Given the description of an element on the screen output the (x, y) to click on. 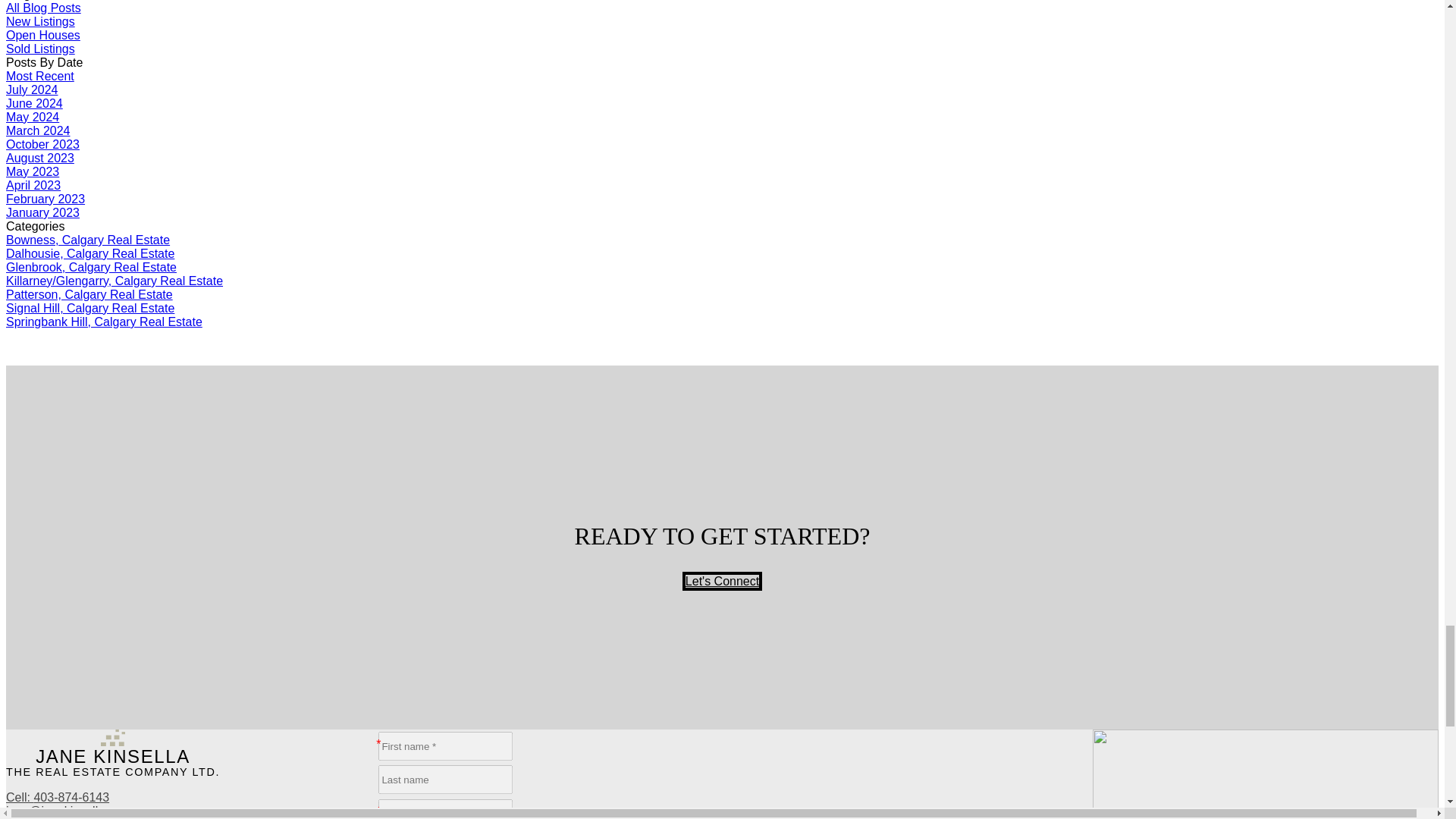
All Blog Posts (43, 7)
Open Houses (42, 34)
Most Recent (39, 75)
New Listings (40, 21)
Sold Listings (40, 48)
